Given the description of an element on the screen output the (x, y) to click on. 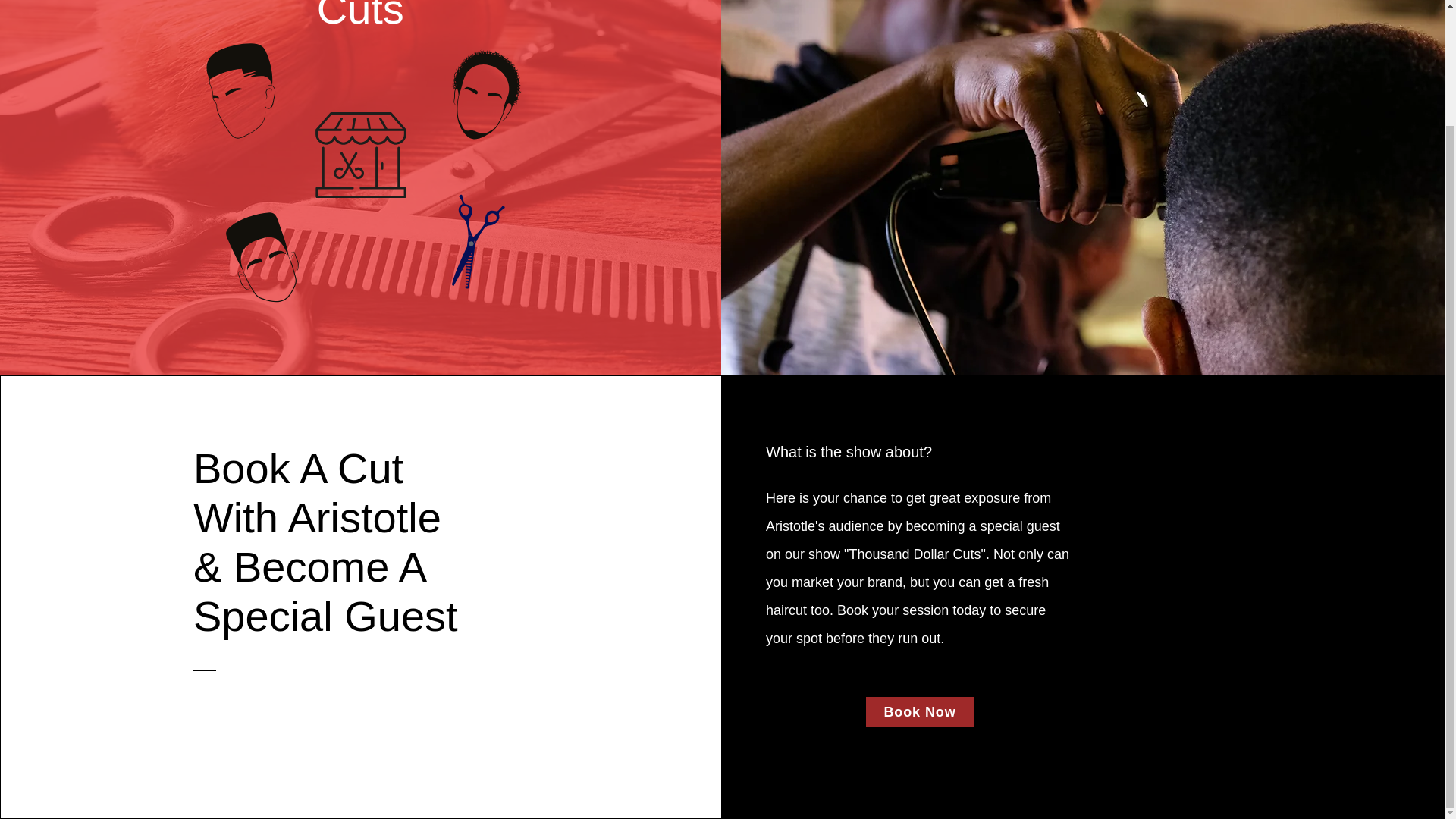
Book Now (920, 711)
